Given the description of an element on the screen output the (x, y) to click on. 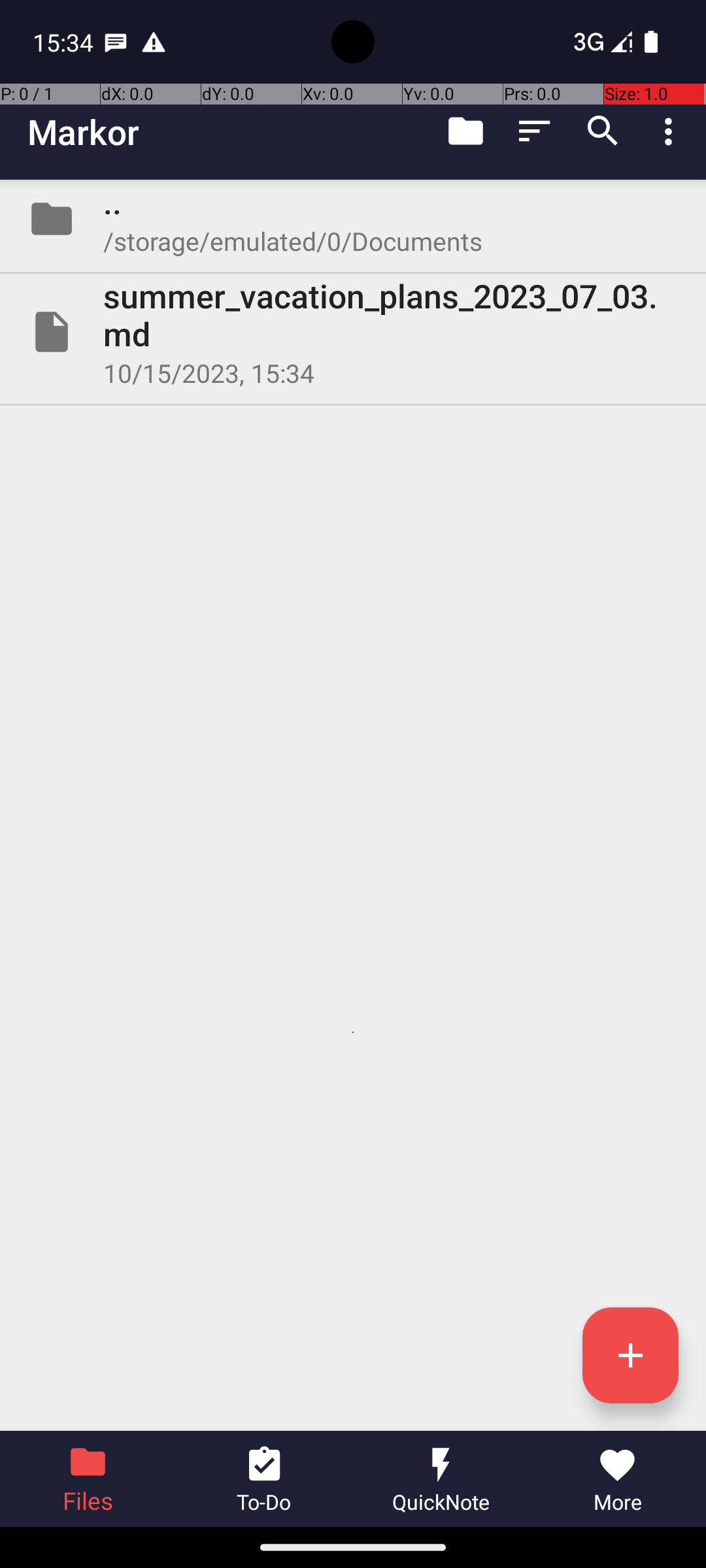
File summer_vacation_plans_2023_07_03.md  Element type: android.widget.LinearLayout (353, 331)
